Given the description of an element on the screen output the (x, y) to click on. 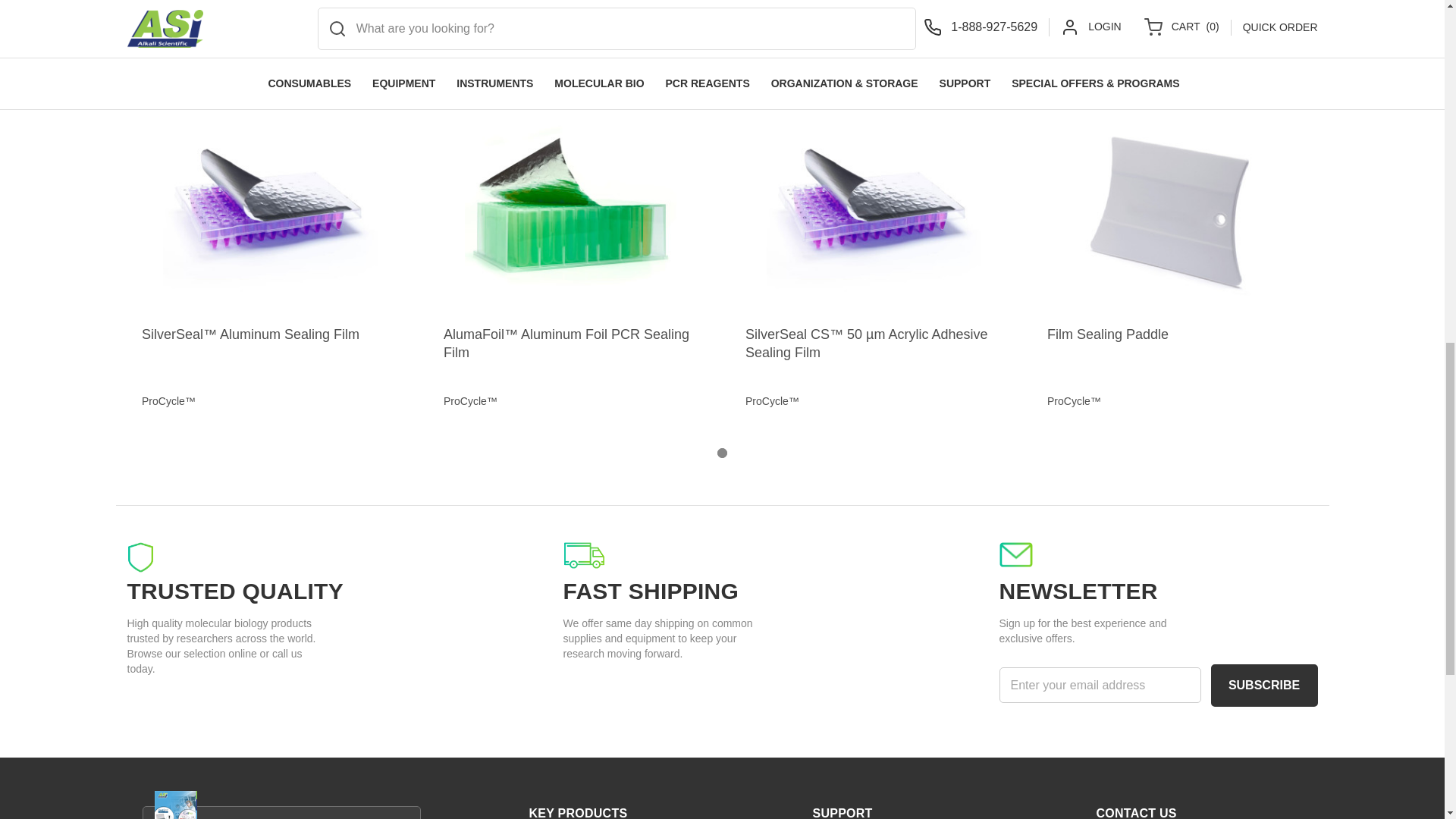
Subscribe (1263, 685)
SilverSeal - image 1 (269, 209)
SilverSeal CS (873, 209)
Film Sealing Paddle (1174, 209)
